Given the description of an element on the screen output the (x, y) to click on. 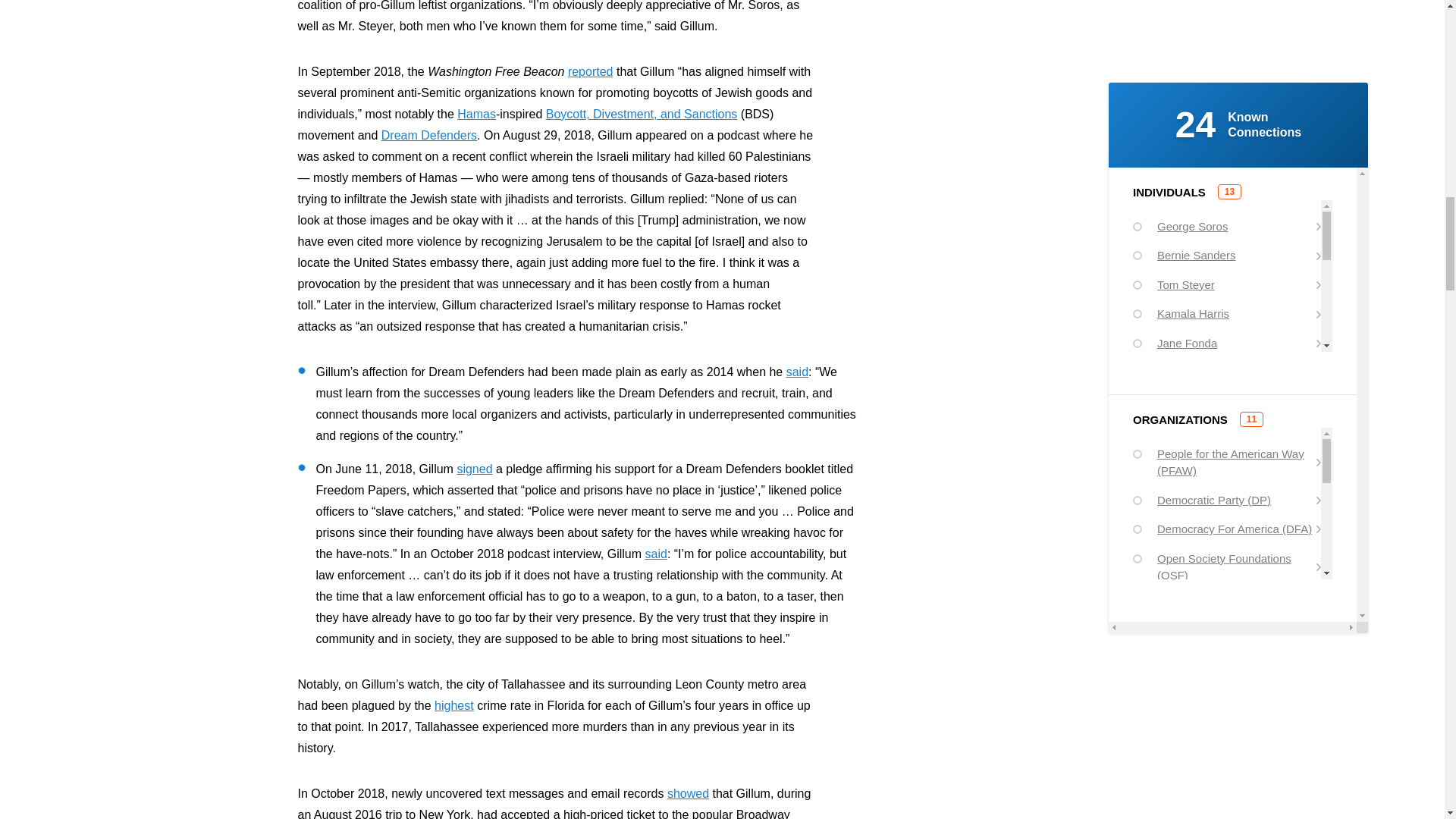
highest (453, 705)
Dream Defenders (429, 134)
reported (589, 71)
said (797, 371)
showed (687, 793)
Boycott, Divestment, and Sanctions (642, 113)
Hamas (476, 113)
said (655, 553)
signed (474, 468)
